Given the description of an element on the screen output the (x, y) to click on. 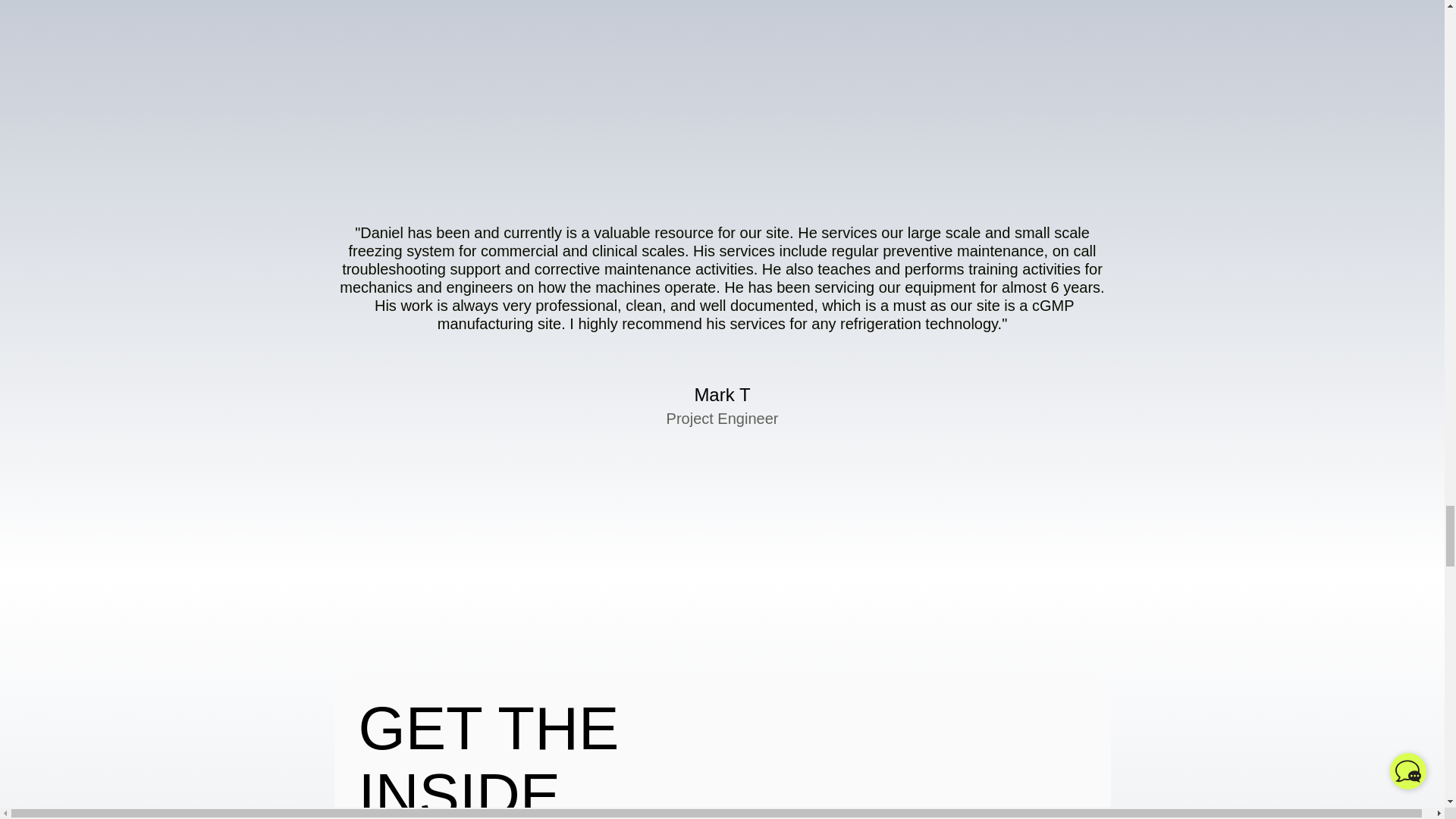
1 (576, 138)
2 (648, 138)
4 (794, 138)
3 (721, 138)
5 (867, 113)
